Given the description of an element on the screen output the (x, y) to click on. 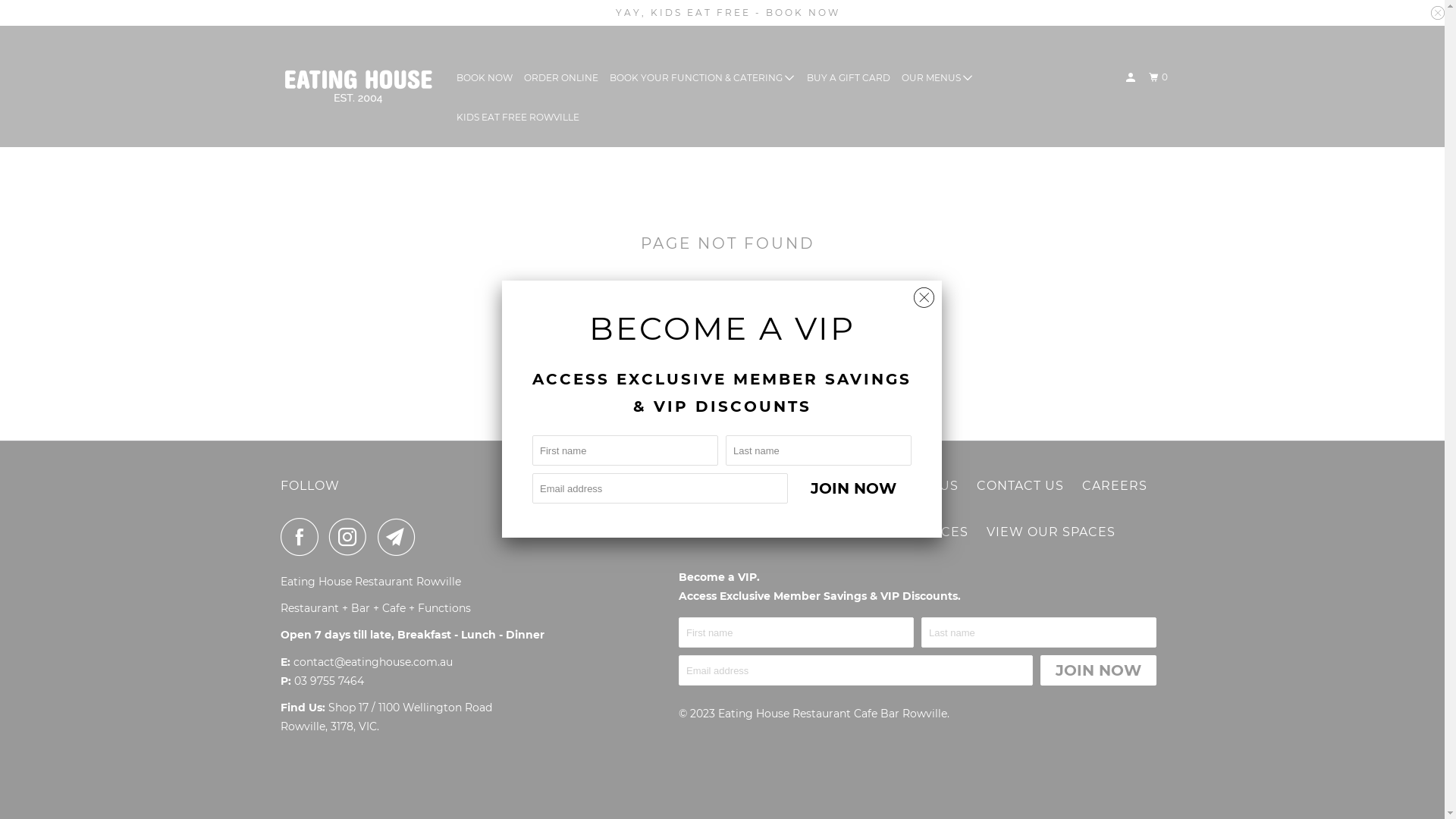
CATERING SERVICES Element type: text (897, 532)
contact@eatinghouse.com.au Element type: text (372, 661)
BOOK A FUNCTION Element type: text (743, 532)
BOOK YOUR FUNCTION & CATERING Element type: text (702, 77)
ORDER ONLINE Element type: text (829, 486)
ORDER ONLINE Element type: text (560, 77)
Eating House Restaurant Cafe Bar Rowville on Facebook Element type: hover (303, 536)
Email Eating House Restaurant Cafe Bar Rowville Element type: hover (400, 536)
CAREERS Element type: text (1114, 486)
Join Now Element type: text (853, 488)
Close Element type: hover (923, 293)
CONTACT US Element type: text (1019, 486)
My Account  Element type: hover (1131, 77)
Eating House Restaurant Cafe Bar Rowville Element type: hover (358, 86)
FIND US Element type: text (929, 486)
BOOK NOW Element type: text (718, 486)
Join Now Element type: text (1098, 670)
0 Element type: text (1159, 77)
Eating House Restaurant Cafe Bar Rowville on Instagram Element type: hover (351, 536)
VIEW OUR SPACES Element type: text (1050, 532)
OUR MENUS Element type: text (937, 77)
BUY A GIFT CARD Element type: text (848, 77)
Find Us: Shop 17 / 1100 Wellington Road
Rowville, 3178, VIC. Element type: text (386, 716)
Eating House Restaurant Cafe Bar Rowville Element type: text (832, 713)
BOOK NOW Element type: text (484, 77)
KIDS EAT FREE ROWVILLE Element type: text (517, 117)
